Given the description of an element on the screen output the (x, y) to click on. 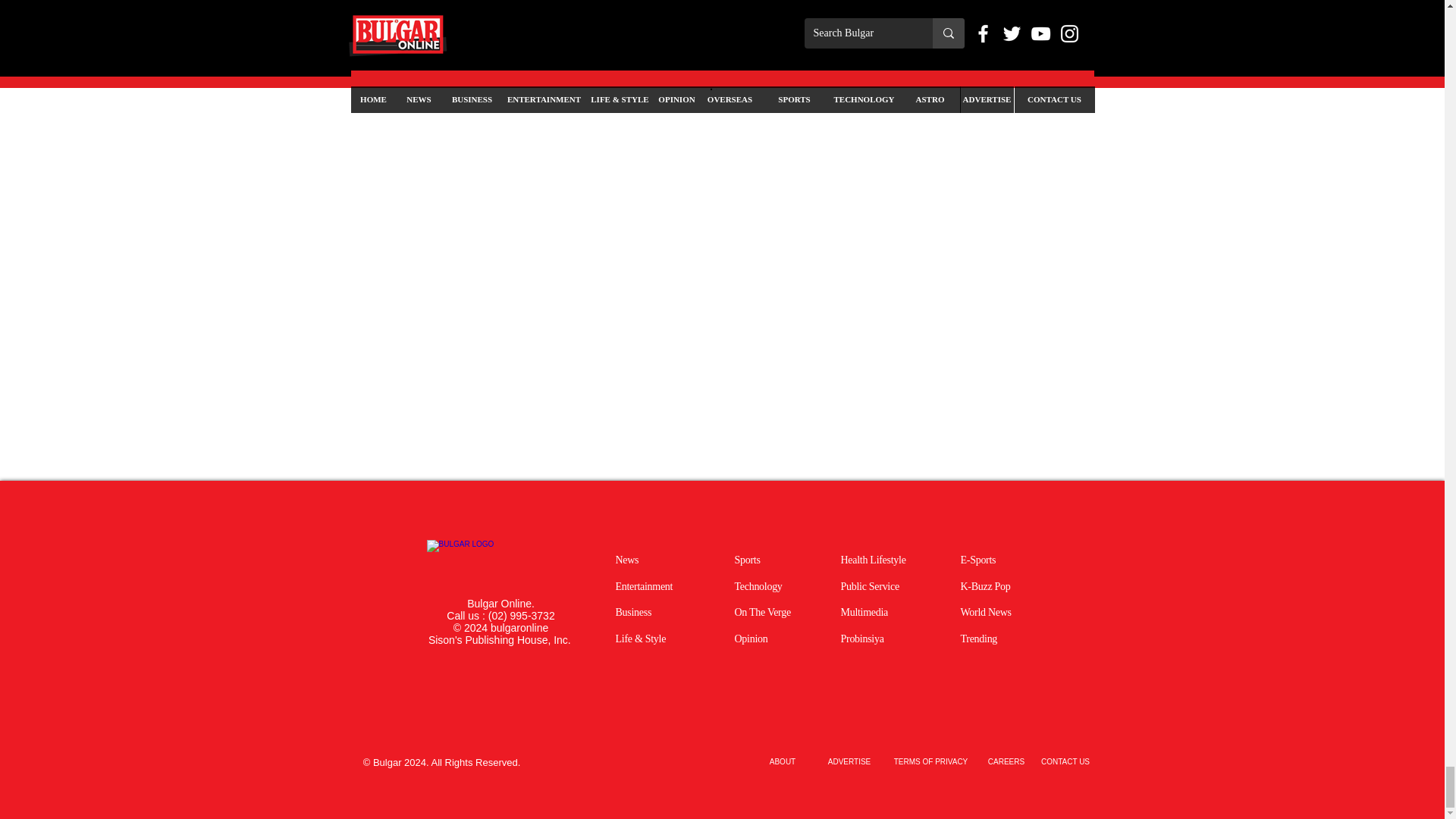
BULGAR (494, 566)
